Given the description of an element on the screen output the (x, y) to click on. 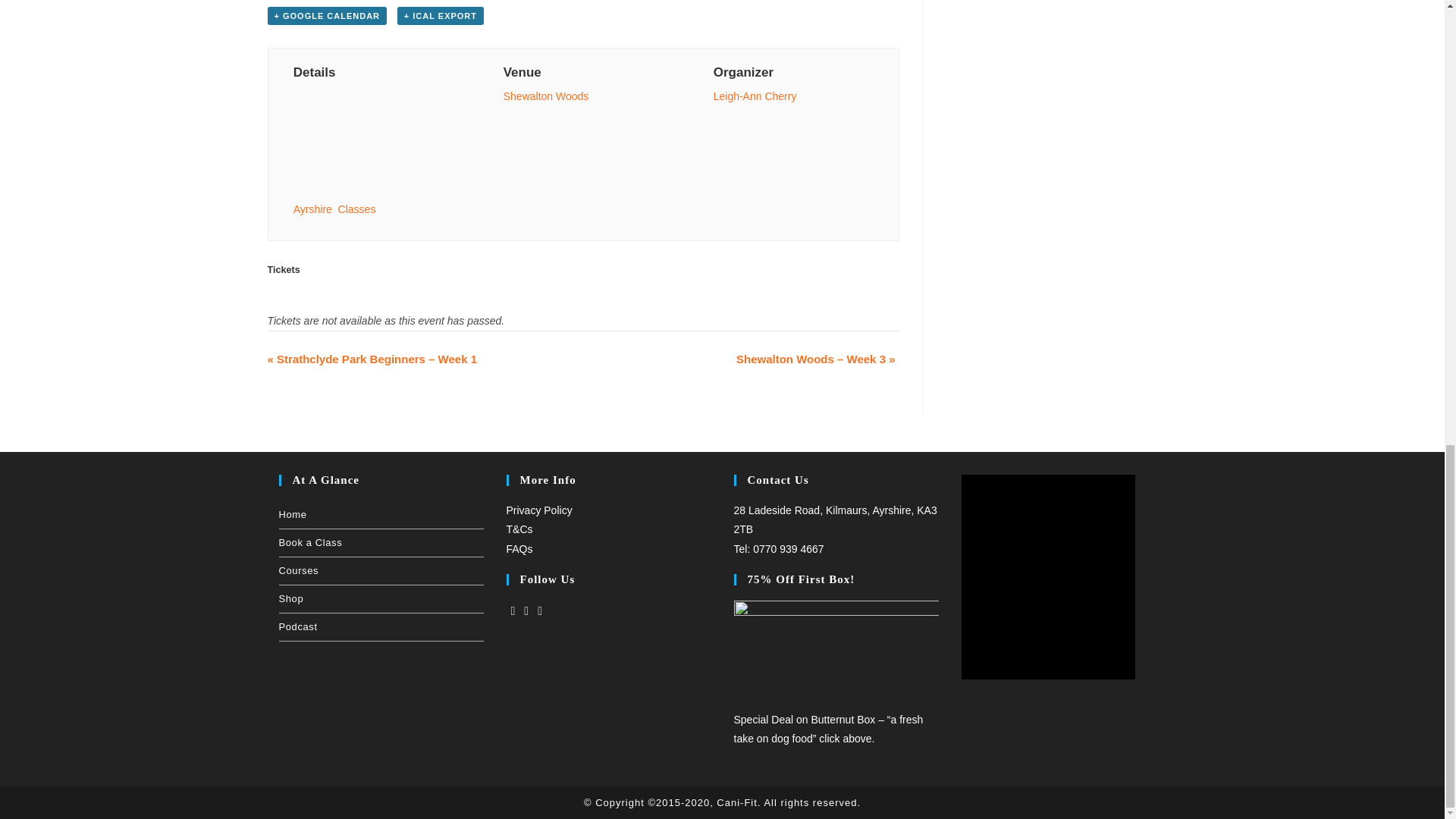
Download .ics file (440, 15)
2021-11-20 (340, 106)
Leigh-Ann Cherry (754, 96)
Add to Google Calendar (326, 15)
2021-11-20 (373, 141)
